Given the description of an element on the screen output the (x, y) to click on. 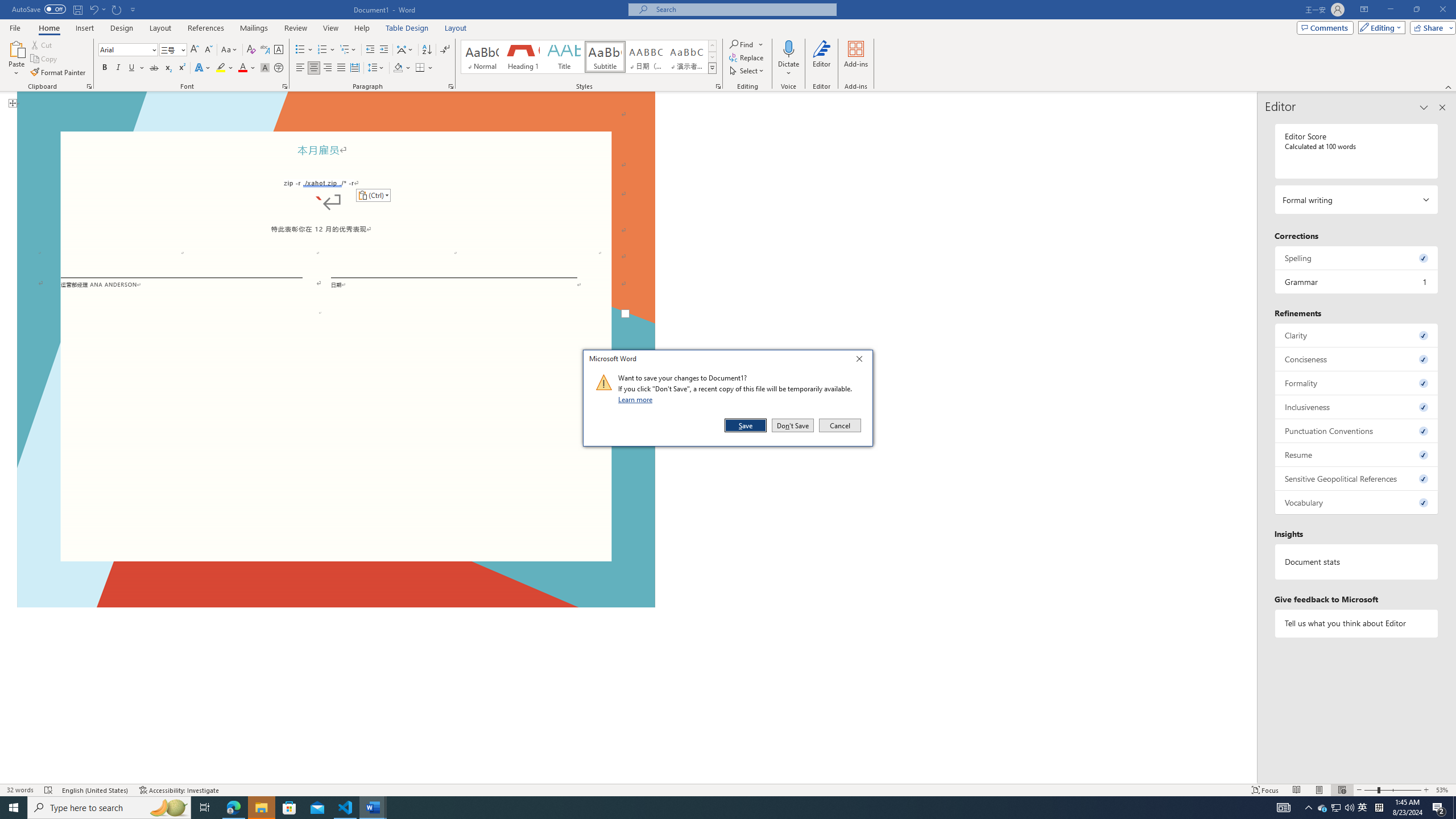
Customize Quick Access Toolbar (133, 9)
Vocabulary, 0 issues. Press space or enter to review items. (1356, 502)
Microsoft Store (289, 807)
Home (48, 28)
Q2790: 100% (1349, 807)
Align Left (300, 67)
Dictate (788, 48)
Word - 2 running windows (373, 807)
Dictate (788, 58)
Collapse the Ribbon (1448, 86)
Task View (204, 807)
Formality, 0 issues. Press space or enter to review items. (1356, 382)
Table Design (407, 28)
